Given the description of an element on the screen output the (x, y) to click on. 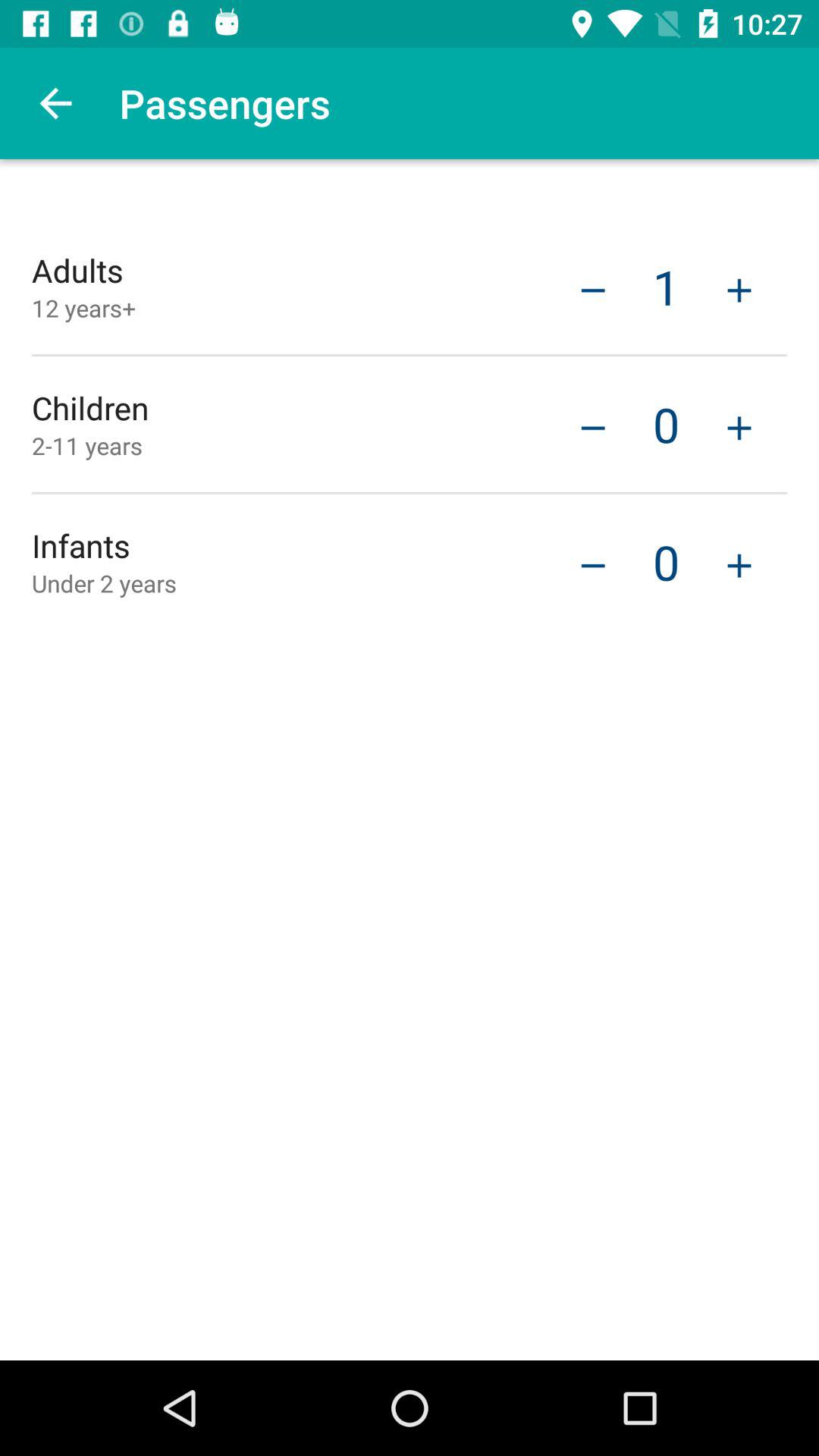
minus means less option (592, 426)
